Given the description of an element on the screen output the (x, y) to click on. 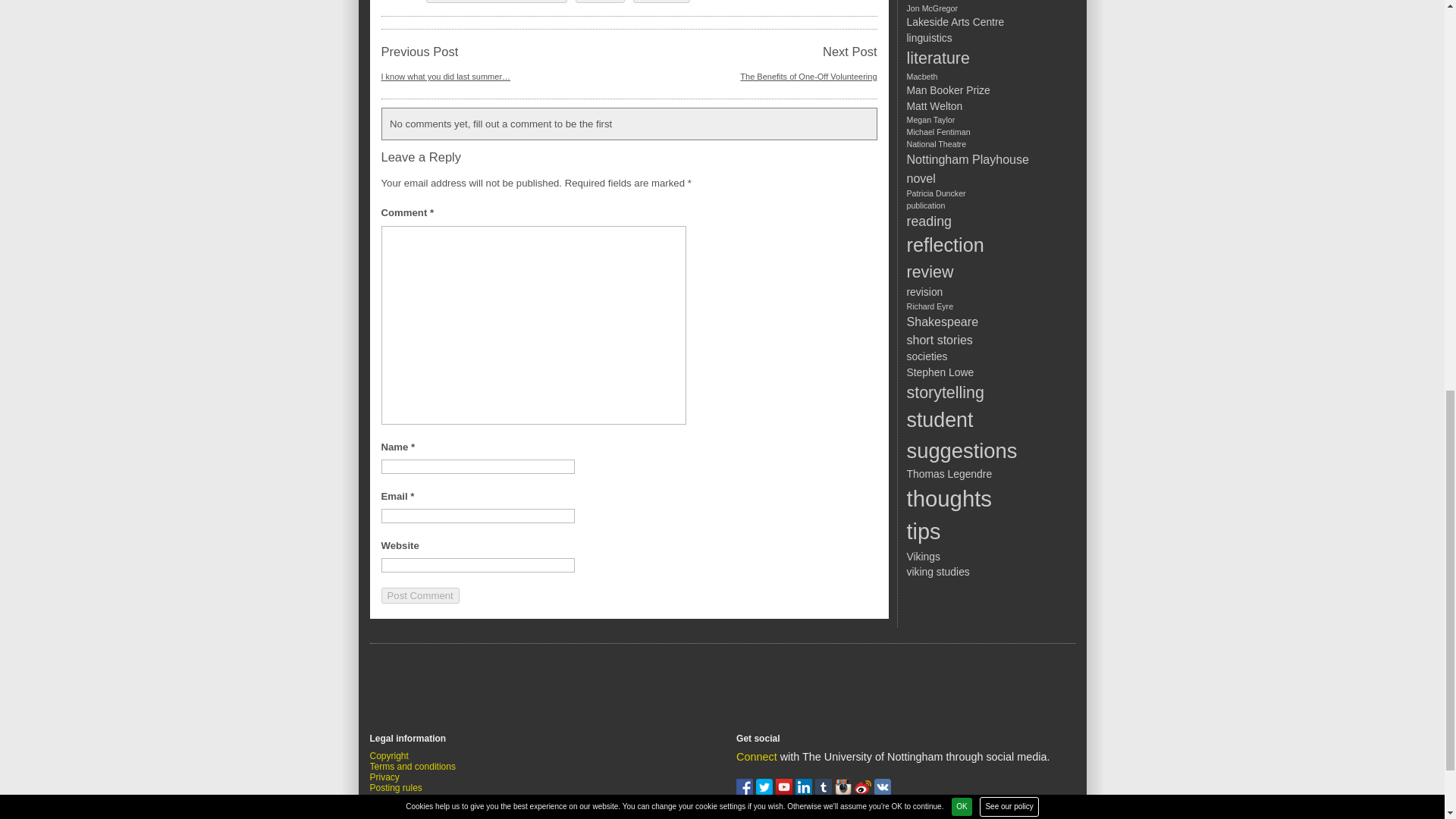
Follow us on twitter (765, 791)
Staff Words (661, 2)
Copyright  (389, 756)
Accessibility (394, 798)
Join us on Linked in (804, 791)
Terms and conditions (412, 766)
Freedom of information (416, 808)
Find us on facebook (745, 791)
Find us on Instagram (844, 791)
Join us on vkontakte (883, 791)
Post Comment (419, 595)
Privacy (383, 777)
Get Social with The University of Nottingham (756, 756)
Posting rules (395, 787)
Contact The University of Nottingham (875, 816)
